Given the description of an element on the screen output the (x, y) to click on. 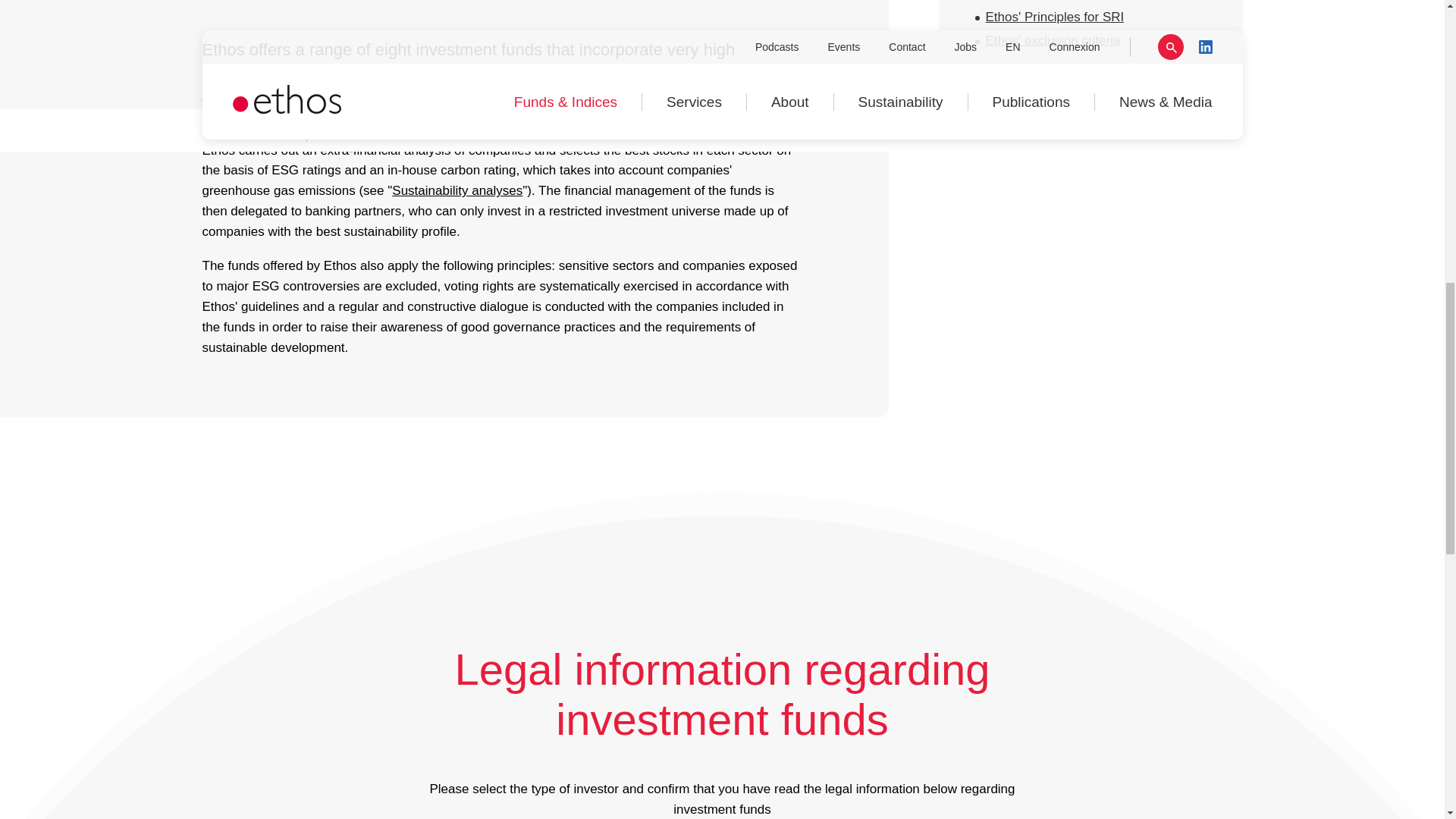
Ethos' Principles for SRI (1054, 16)
Sustainability analyses (456, 190)
